Given the description of an element on the screen output the (x, y) to click on. 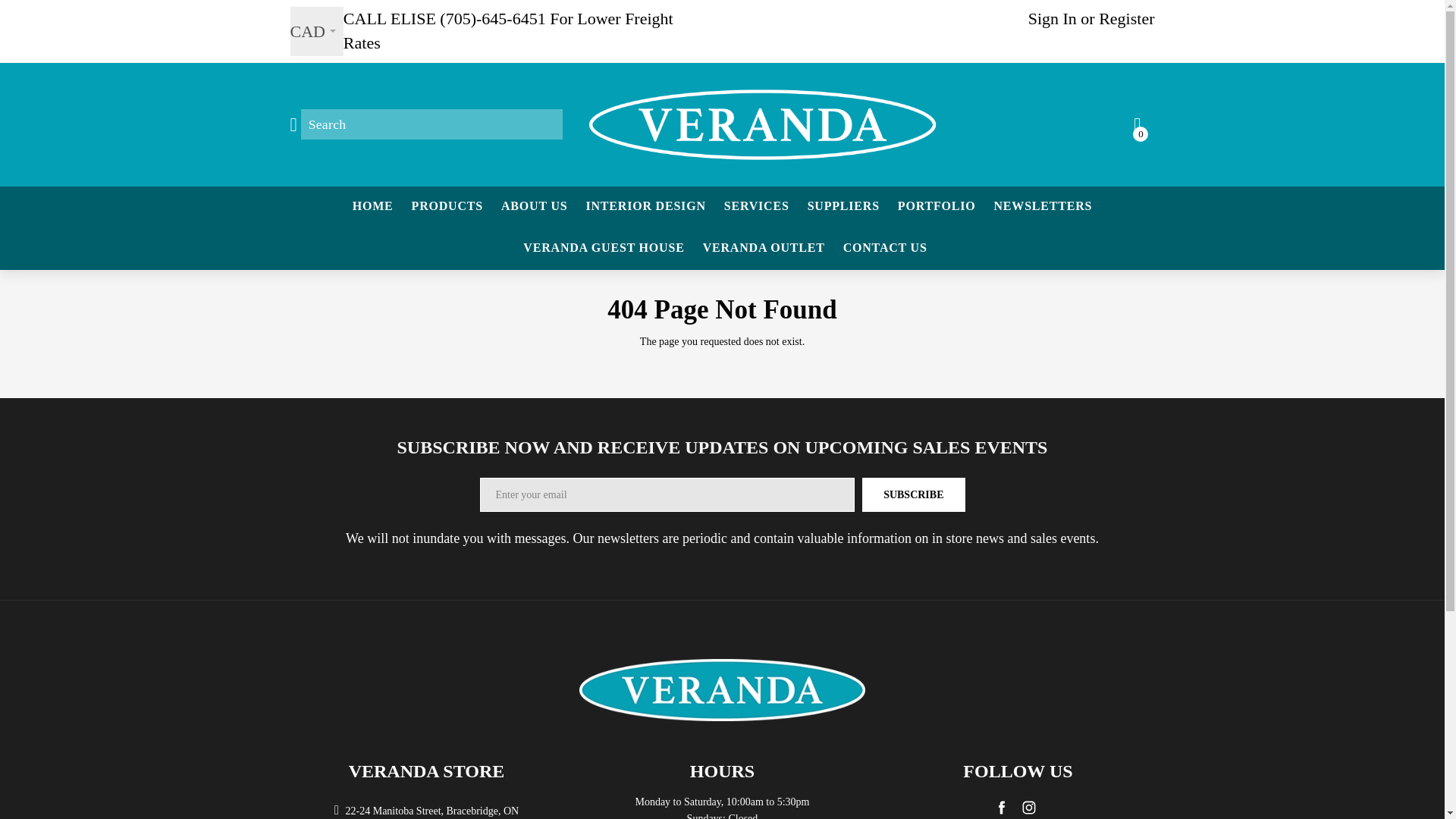
HOME (372, 206)
PRODUCTS (447, 206)
Sign In (1052, 18)
Register (1126, 18)
